Given the description of an element on the screen output the (x, y) to click on. 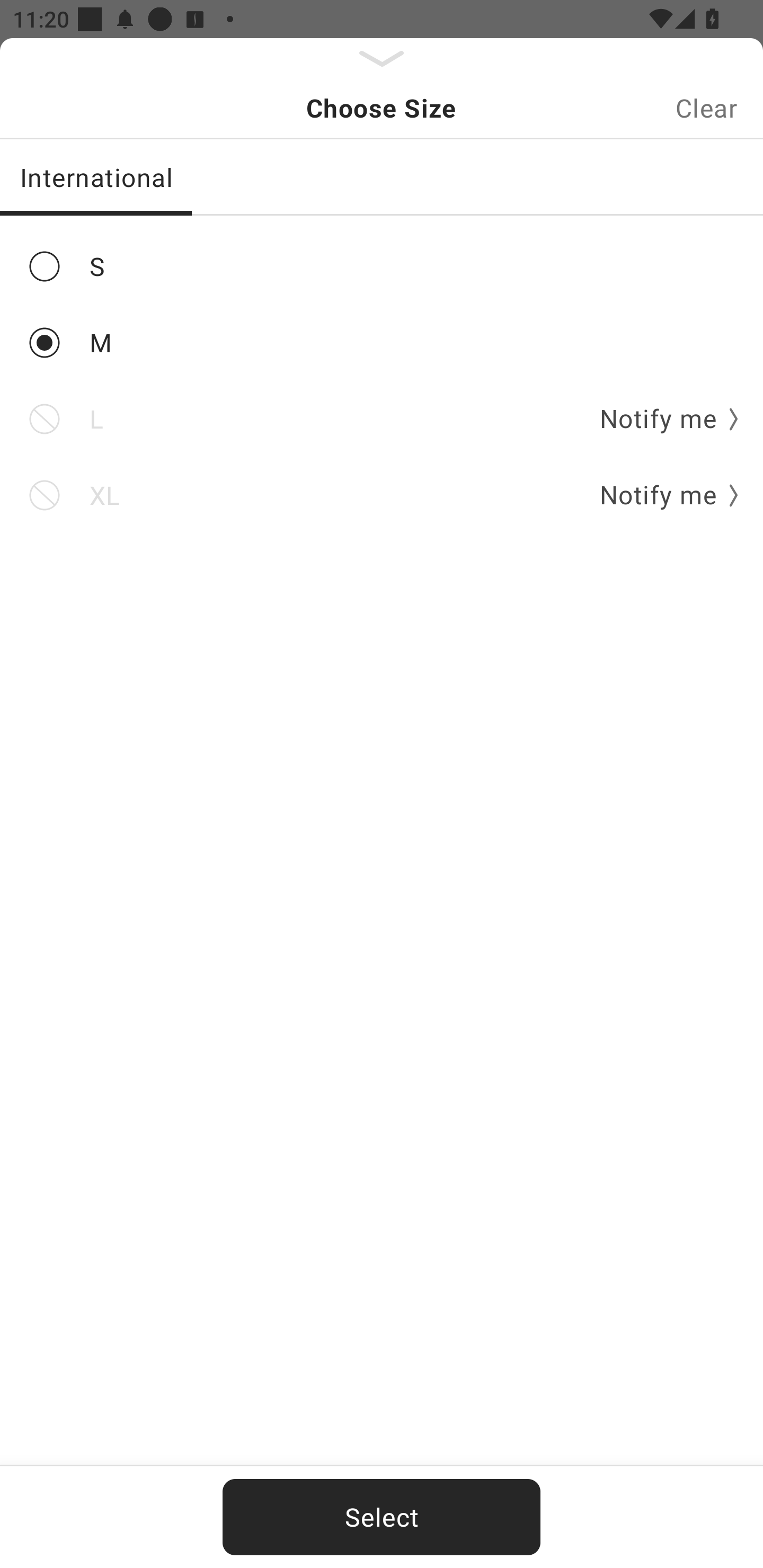
Clear (706, 107)
S (381, 266)
M (381, 342)
L Notify me (381, 419)
Notify me (661, 419)
XL Notify me (381, 495)
Notify me (661, 495)
Select (381, 1516)
